Given the description of an element on the screen output the (x, y) to click on. 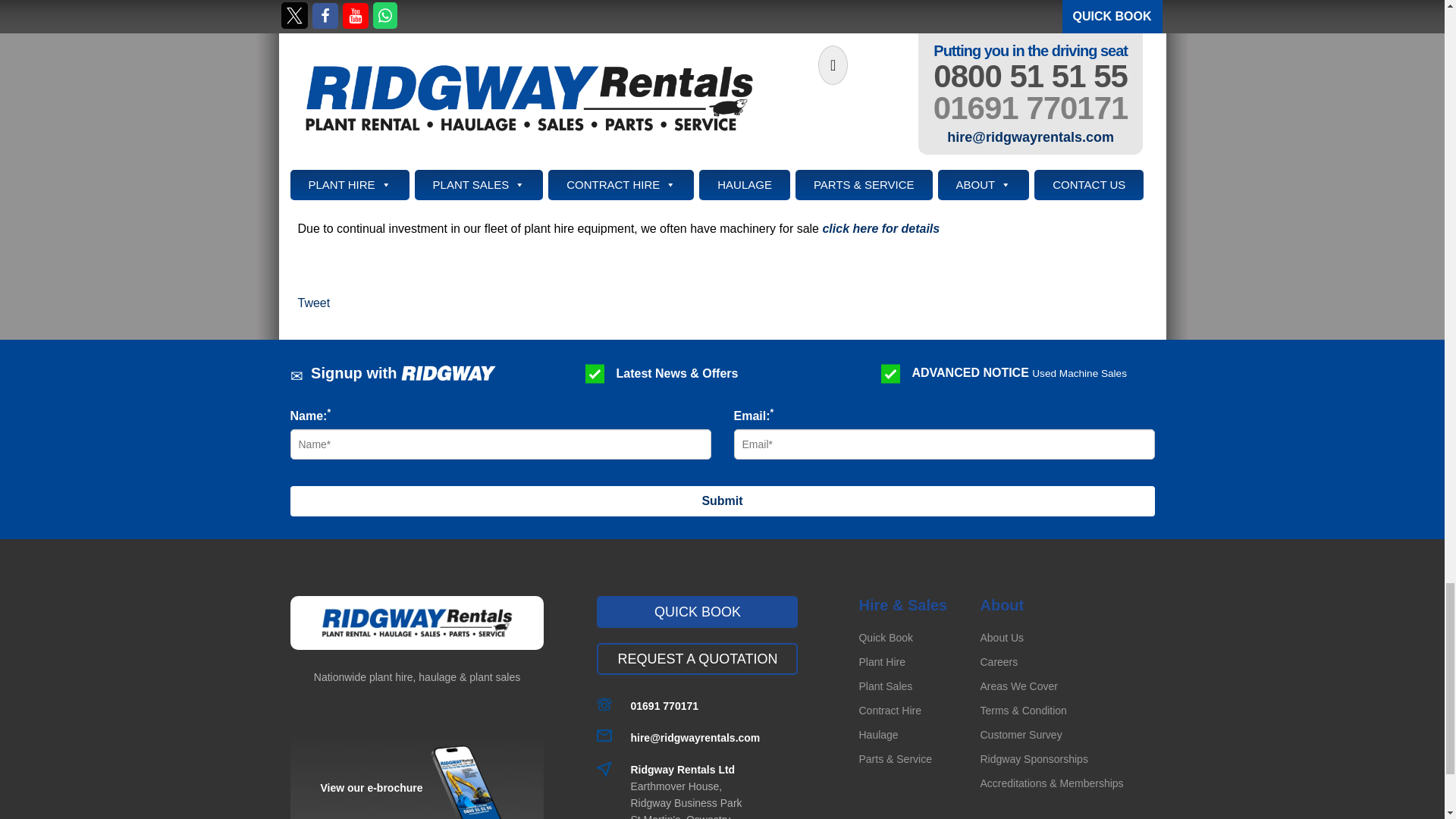
Email (695, 737)
Ridgway Rentals (416, 623)
